Given the description of an element on the screen output the (x, y) to click on. 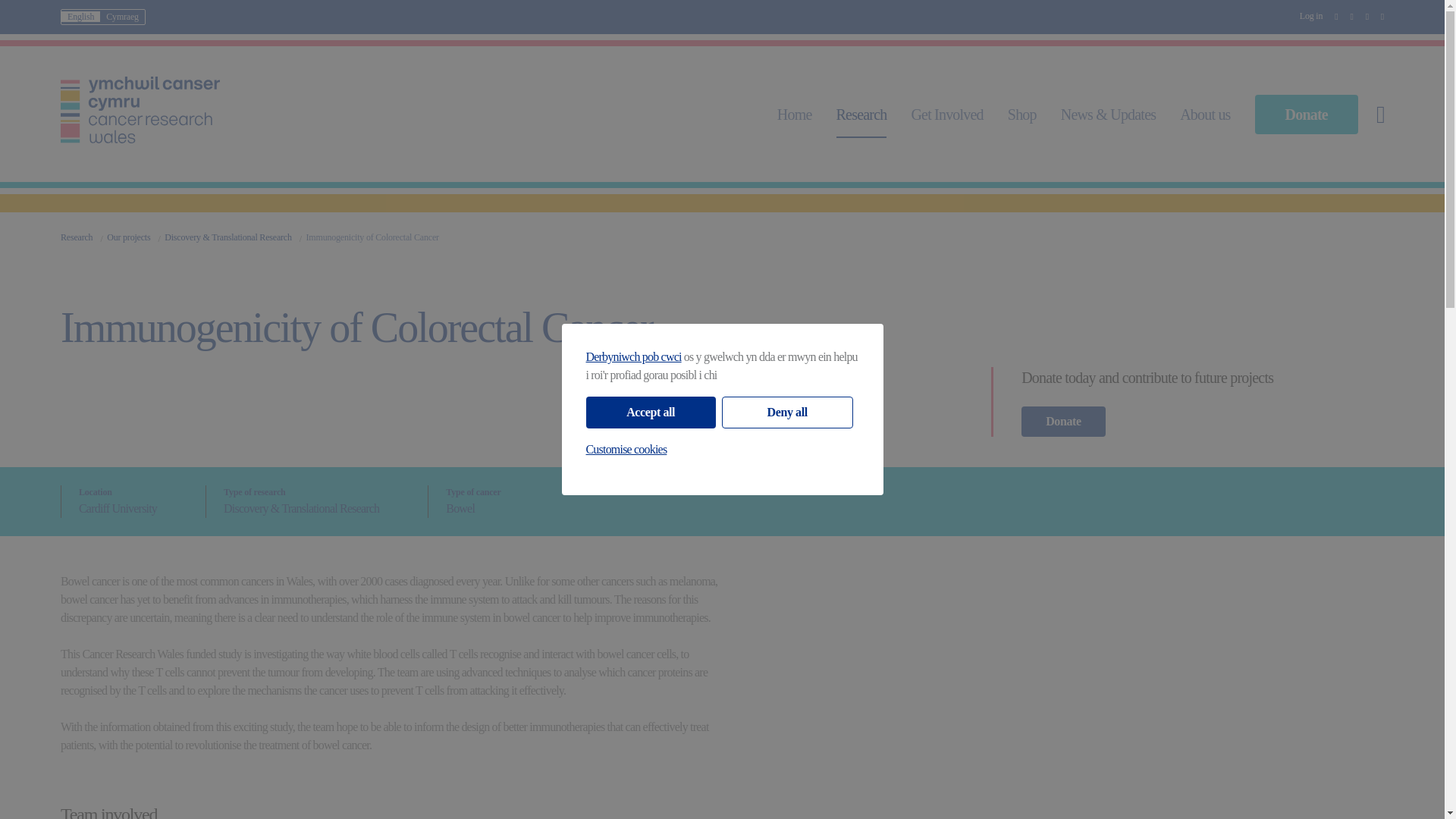
Home (794, 114)
Deny all (787, 412)
Research (860, 114)
Log in (1311, 15)
Get Involved (946, 114)
Customise cookies (625, 449)
Derbyniwch pob cwci (633, 356)
English (80, 16)
Accept all (649, 412)
Cymraeg (122, 16)
